Given the description of an element on the screen output the (x, y) to click on. 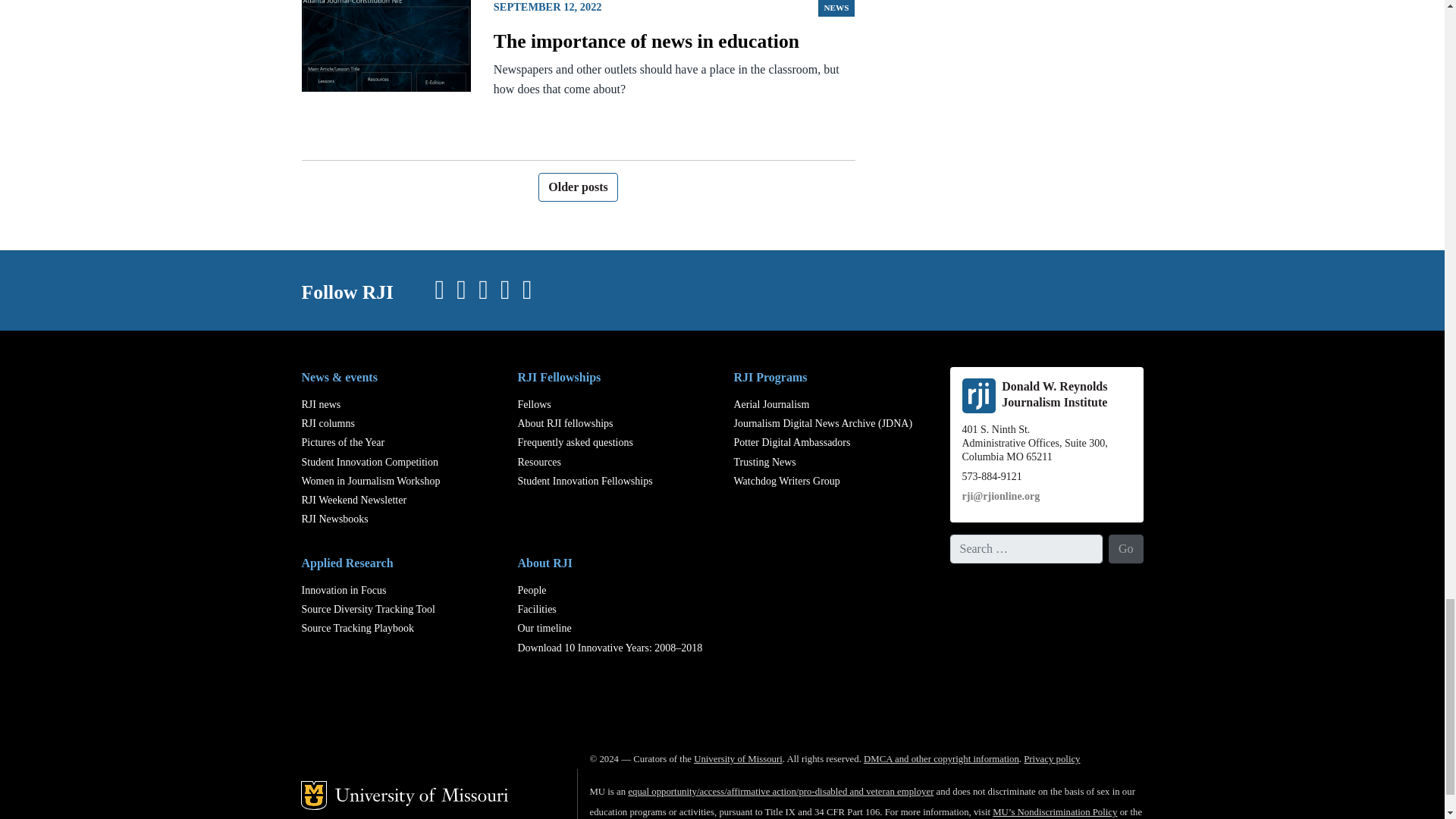
Go (1125, 548)
Go (1125, 548)
